Given the description of an element on the screen output the (x, y) to click on. 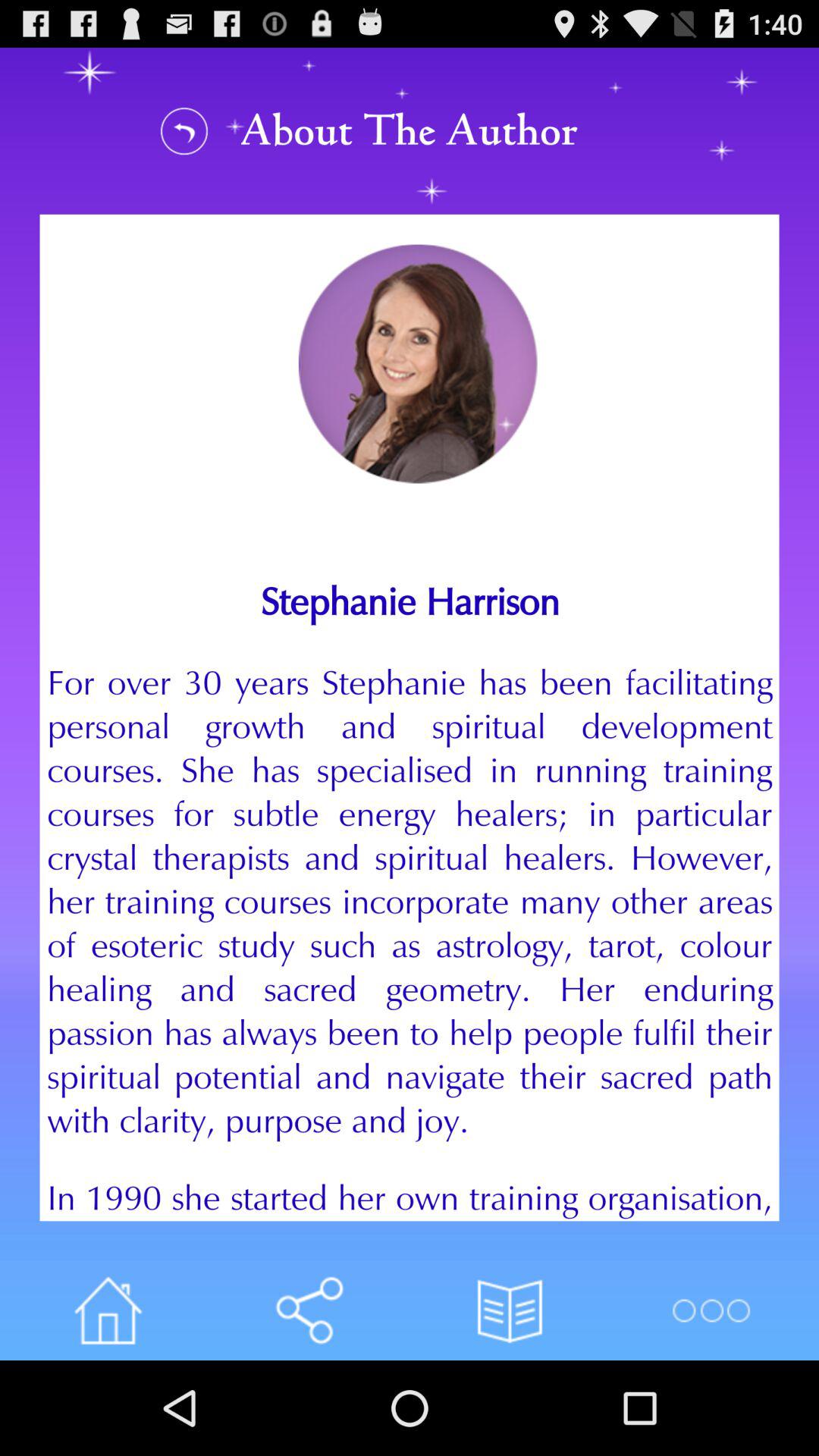
to view about (184, 130)
